Given the description of an element on the screen output the (x, y) to click on. 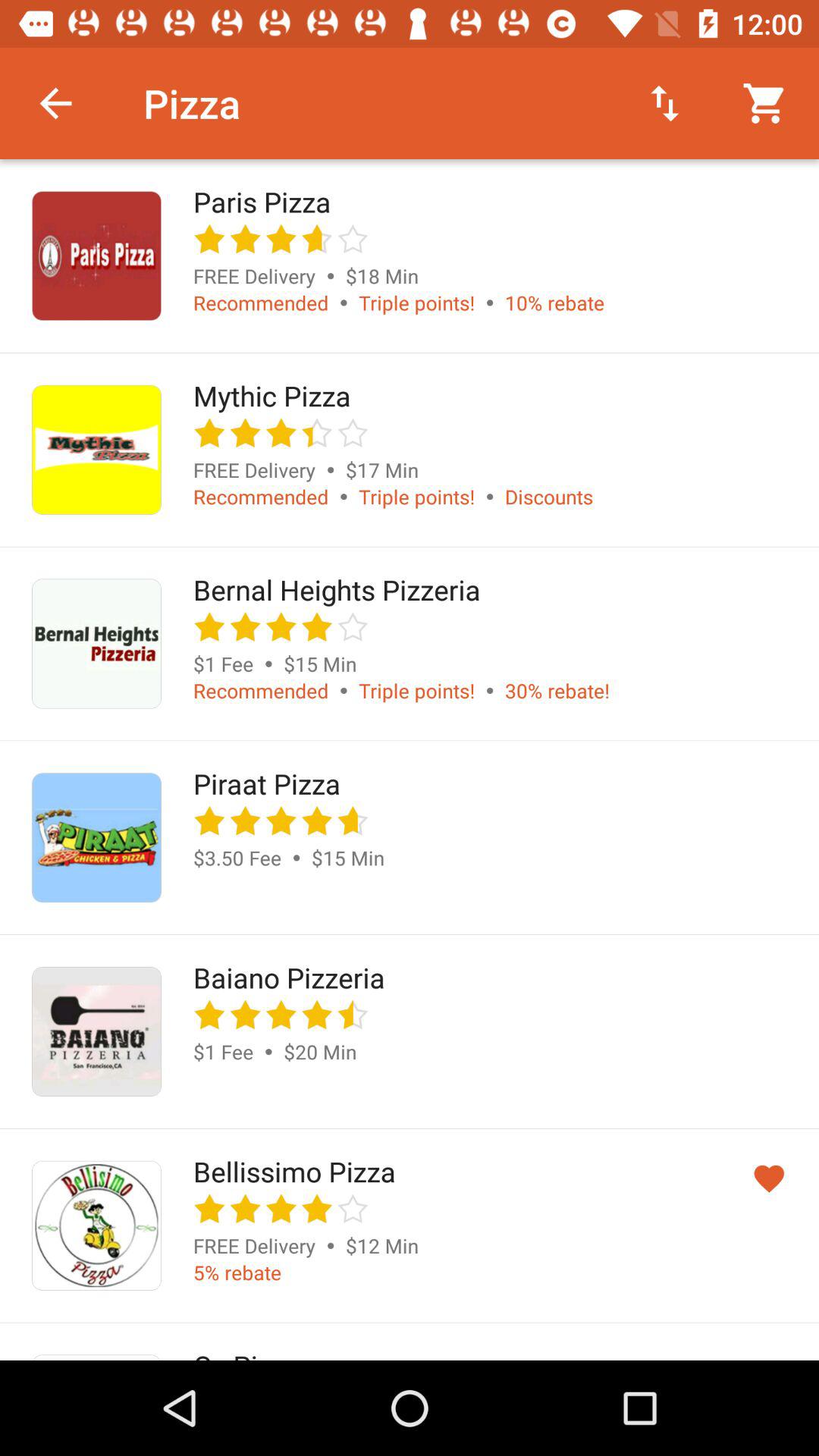
tap item to the right of pizza (664, 103)
